Given the description of an element on the screen output the (x, y) to click on. 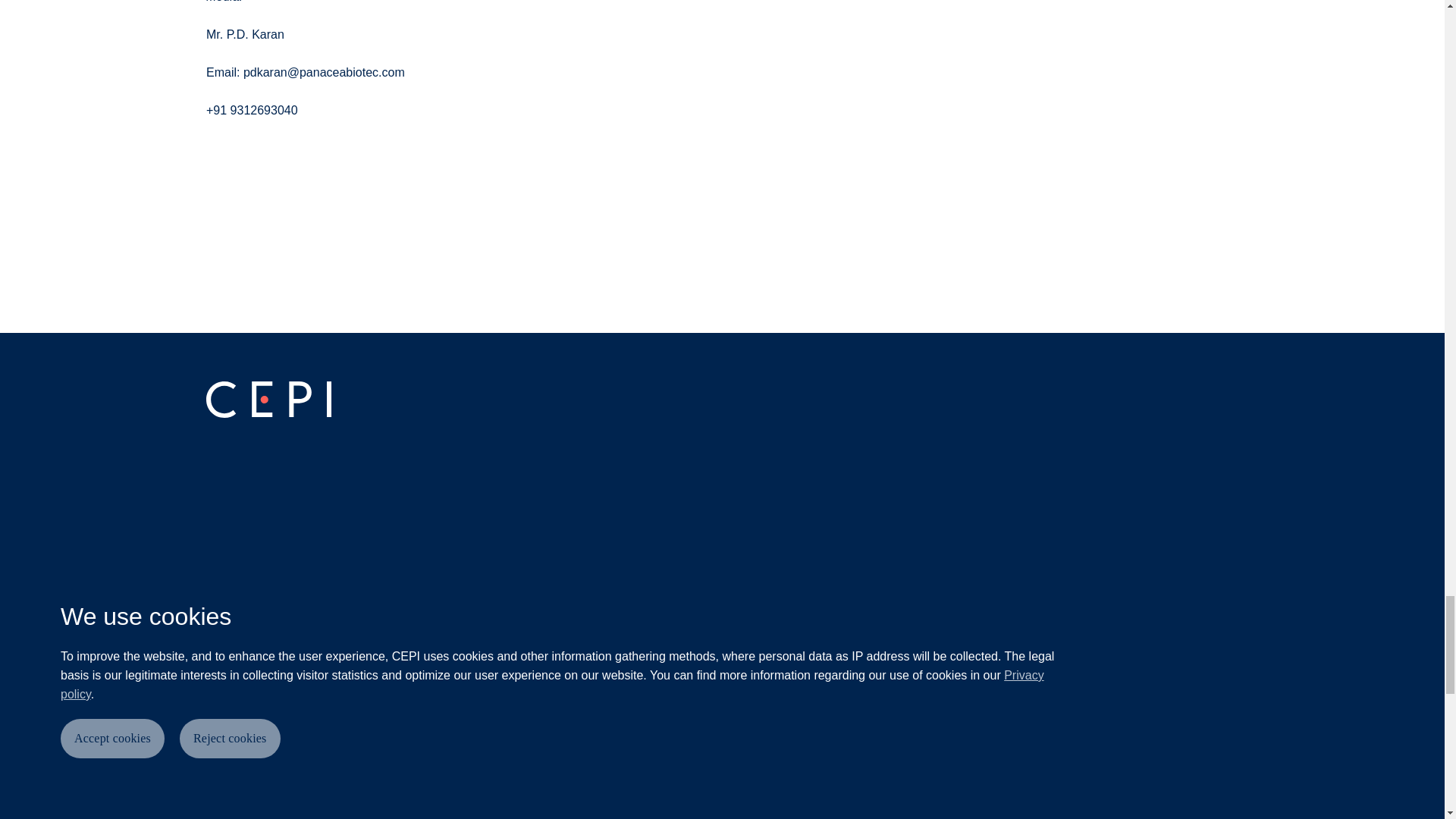
Equitable access (246, 693)
CEPI 2.0 and the 100 Days Mission (293, 659)
The CEPI team (268, 754)
About (229, 555)
Our approach (261, 621)
